Given the description of an element on the screen output the (x, y) to click on. 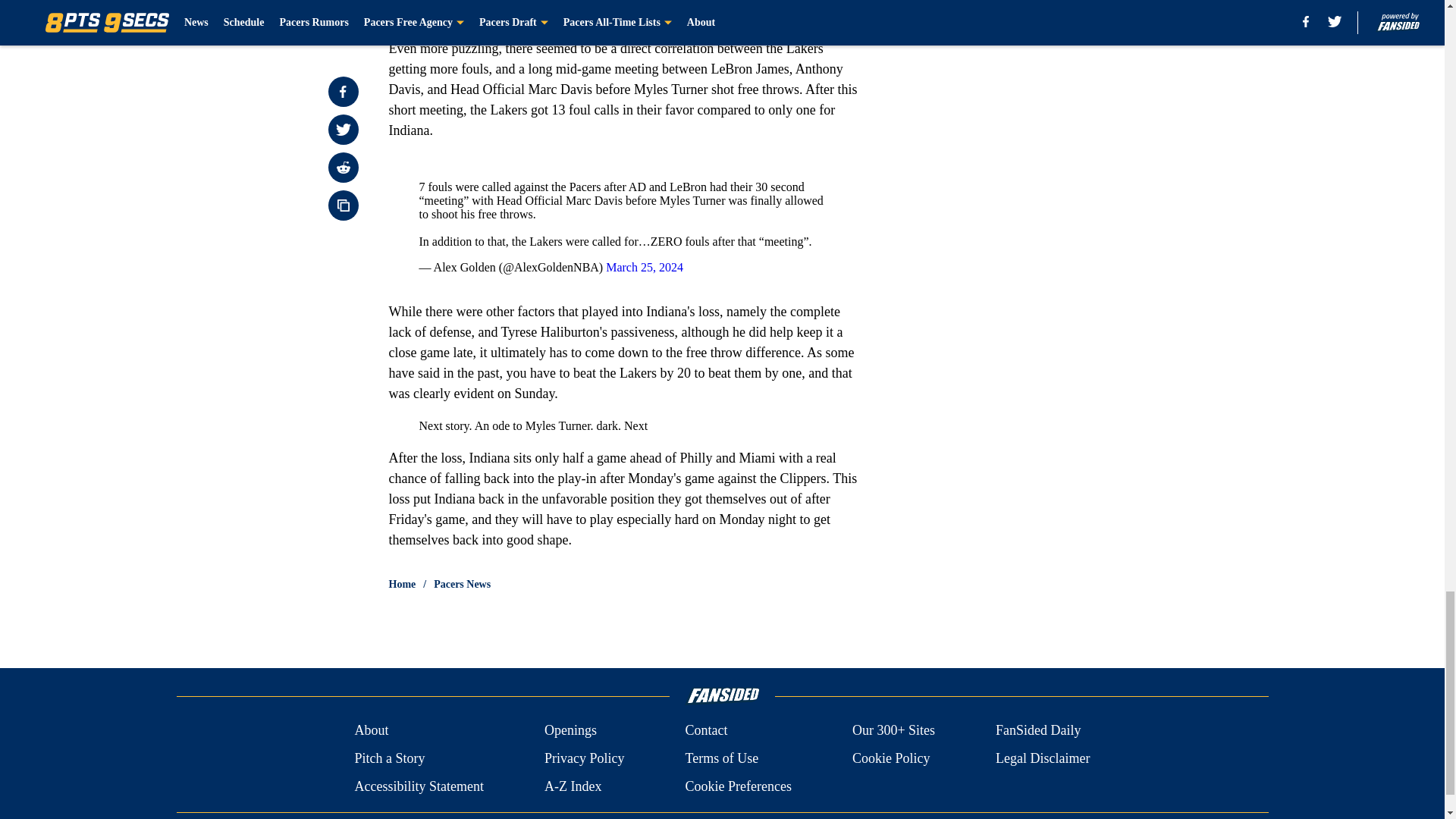
Pitch a Story (389, 758)
Contact (705, 730)
FanSided Daily (1038, 730)
Home (401, 584)
Privacy Policy (584, 758)
Openings (570, 730)
About (370, 730)
Accessibility Statement (418, 786)
March 25, 2024 (643, 267)
Pacers News (461, 584)
